Given the description of an element on the screen output the (x, y) to click on. 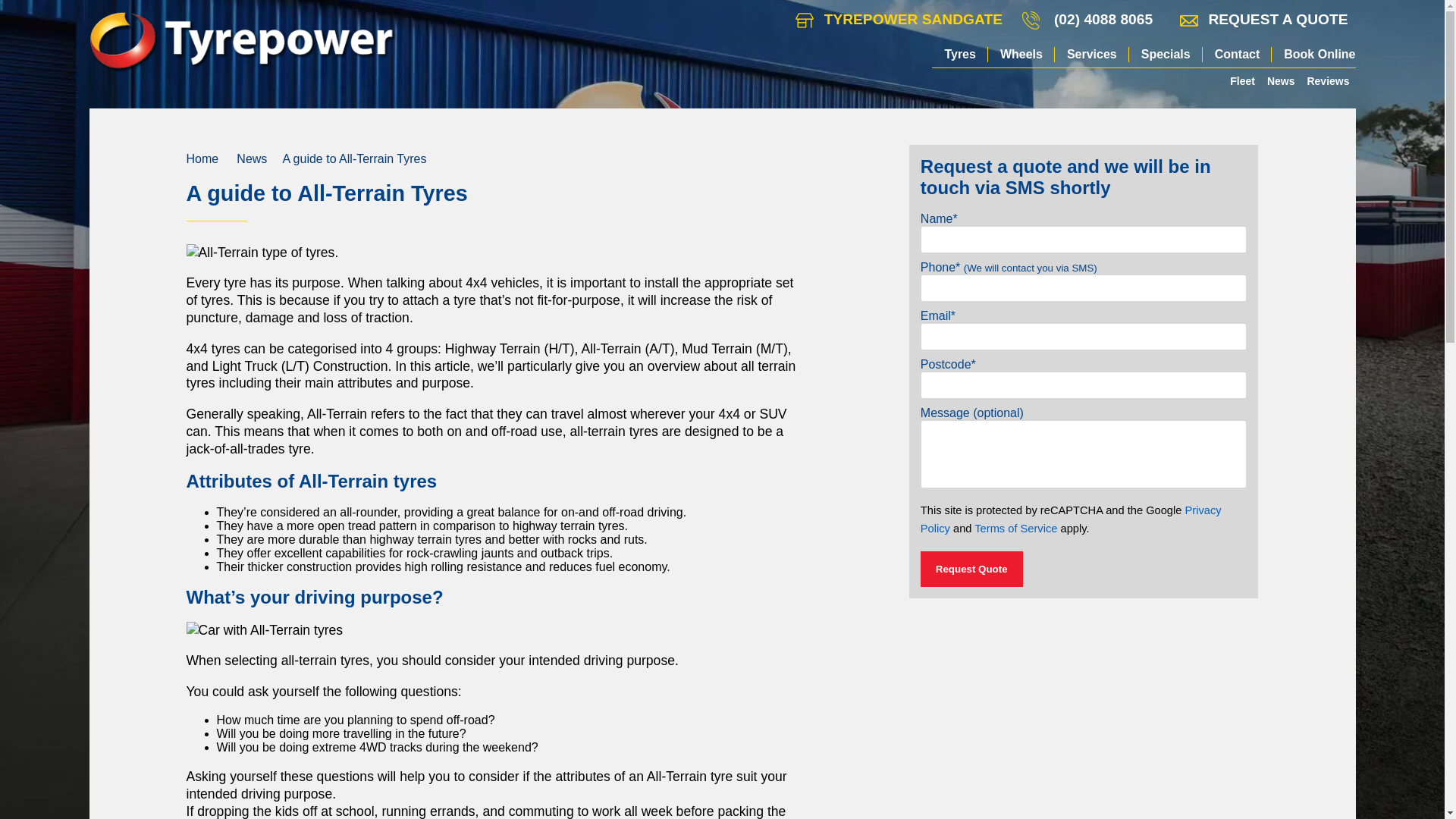
Contact (1237, 54)
Wheels (1021, 54)
Book Online (1313, 54)
Contact Tyrepower Sandgate (898, 20)
Services (1091, 54)
News (1280, 80)
Tyres (959, 54)
Specials (1165, 54)
Fleet (1242, 80)
Reviews (1327, 80)
TYREPOWER SANDGATE (898, 20)
REQUEST A QUOTE (1263, 20)
Click to call now! (1103, 20)
